Given the description of an element on the screen output the (x, y) to click on. 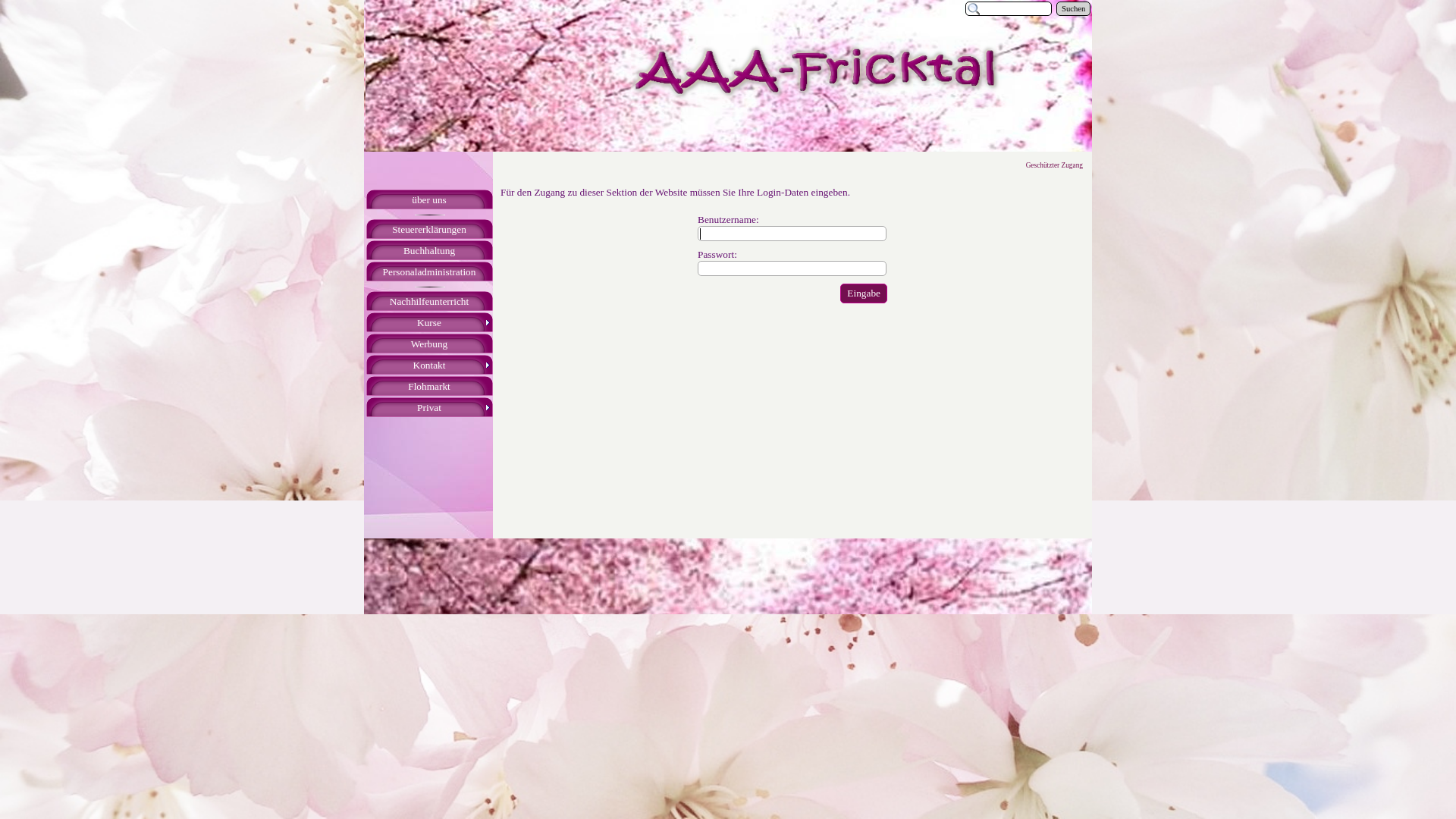
Flohmarkt Element type: text (429, 386)
Nachhilfeunterricht Element type: text (429, 301)
Suchen Element type: text (1073, 8)
Werbung Element type: text (429, 343)
Buchhaltung Element type: text (429, 250)
Personaladministration Element type: text (429, 271)
